Given the description of an element on the screen output the (x, y) to click on. 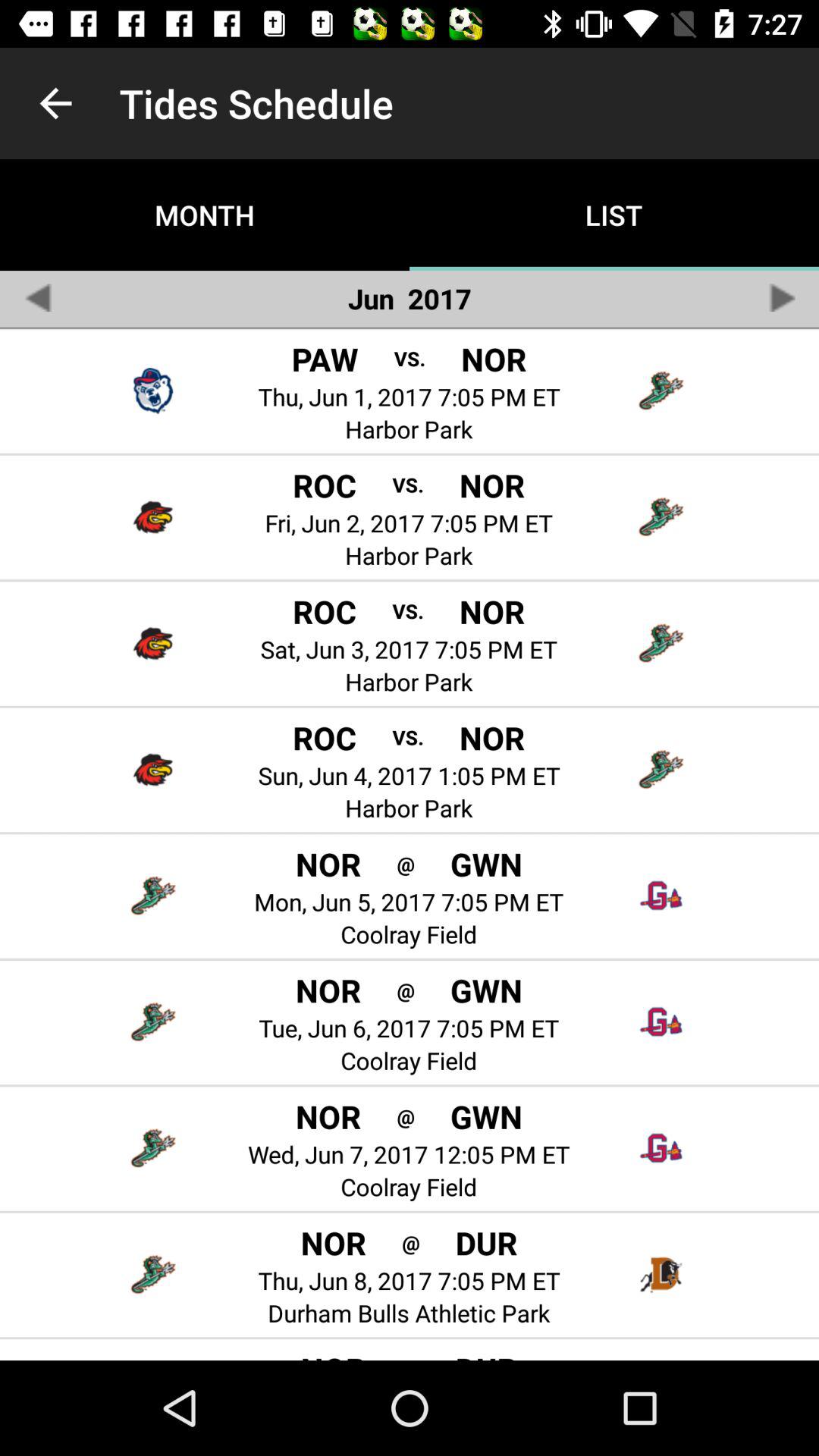
launch the app to the right of list icon (781, 297)
